Given the description of an element on the screen output the (x, y) to click on. 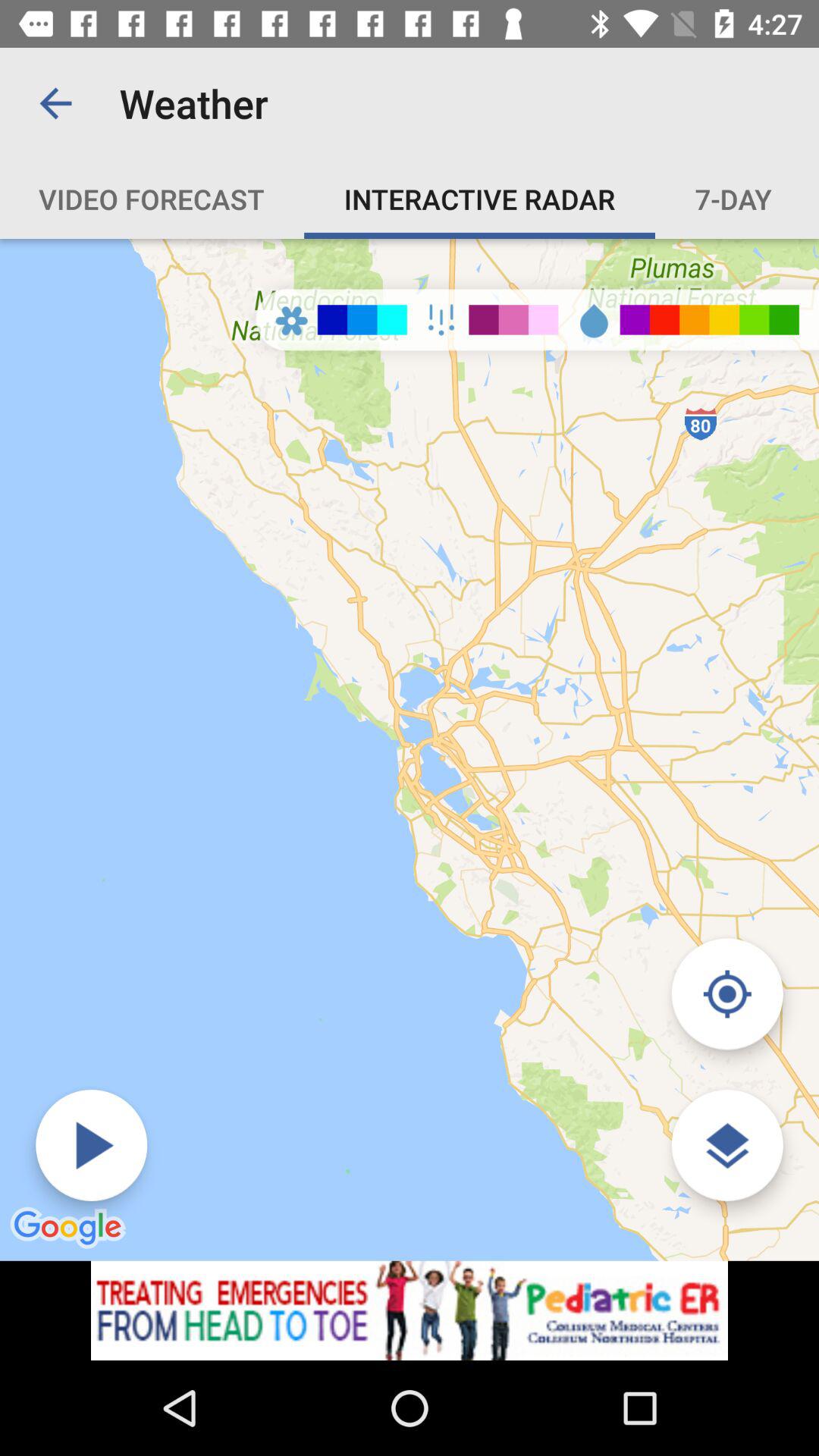
click arrow to start interactive map (91, 1145)
